Given the description of an element on the screen output the (x, y) to click on. 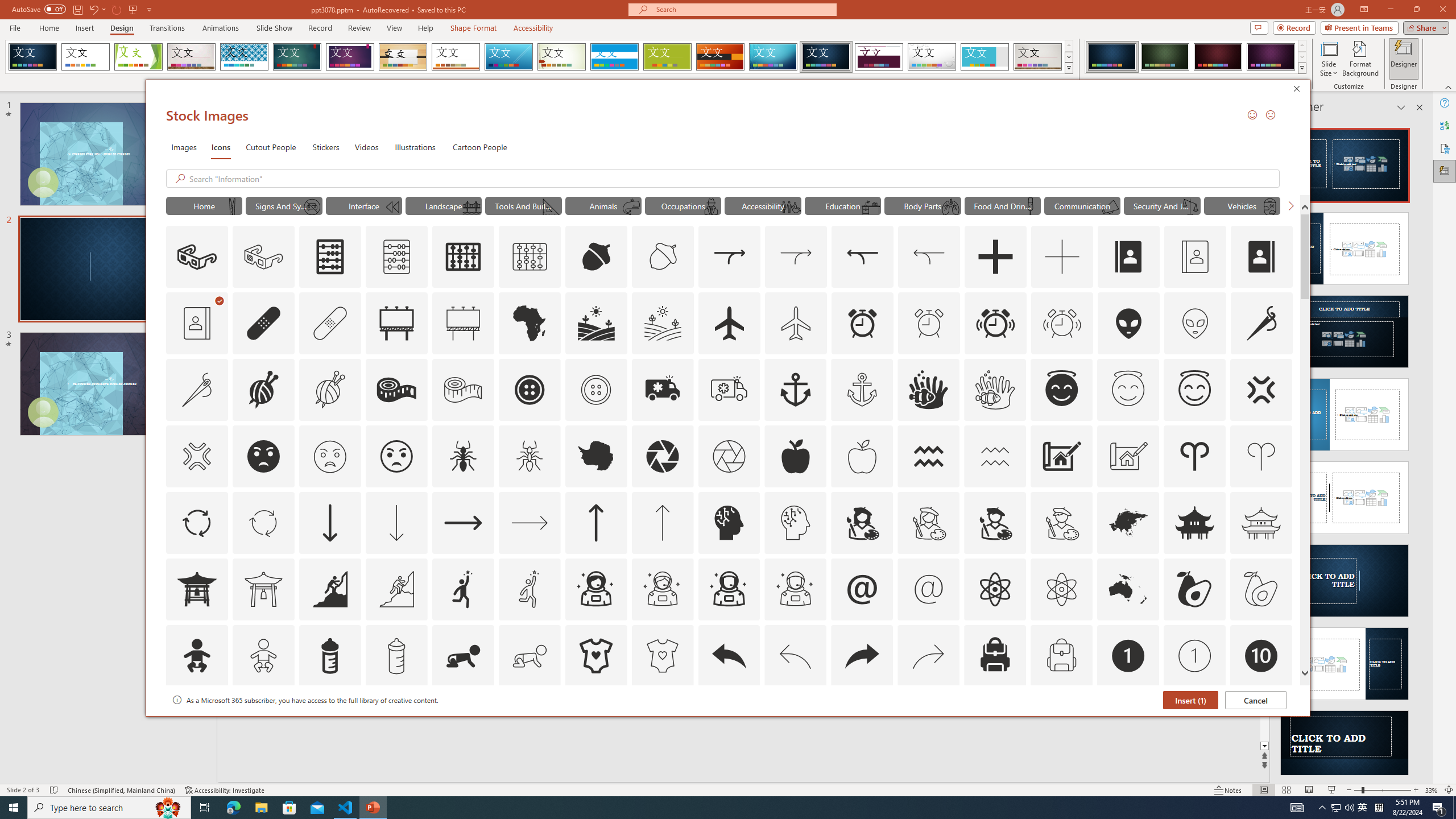
AutomationID: Icons_BabyOnesie_M (662, 655)
AutomationID: Icons_Champagne_M (1030, 206)
AutomationID: Icons_Badge4_M (595, 721)
AutomationID: Icons_Badge1_M (1194, 655)
AutomationID: Icons_ArtistFemale (861, 522)
Next Search Suggestion (1290, 205)
AutomationID: Icons_Agriculture_M (663, 323)
